Given the description of an element on the screen output the (x, y) to click on. 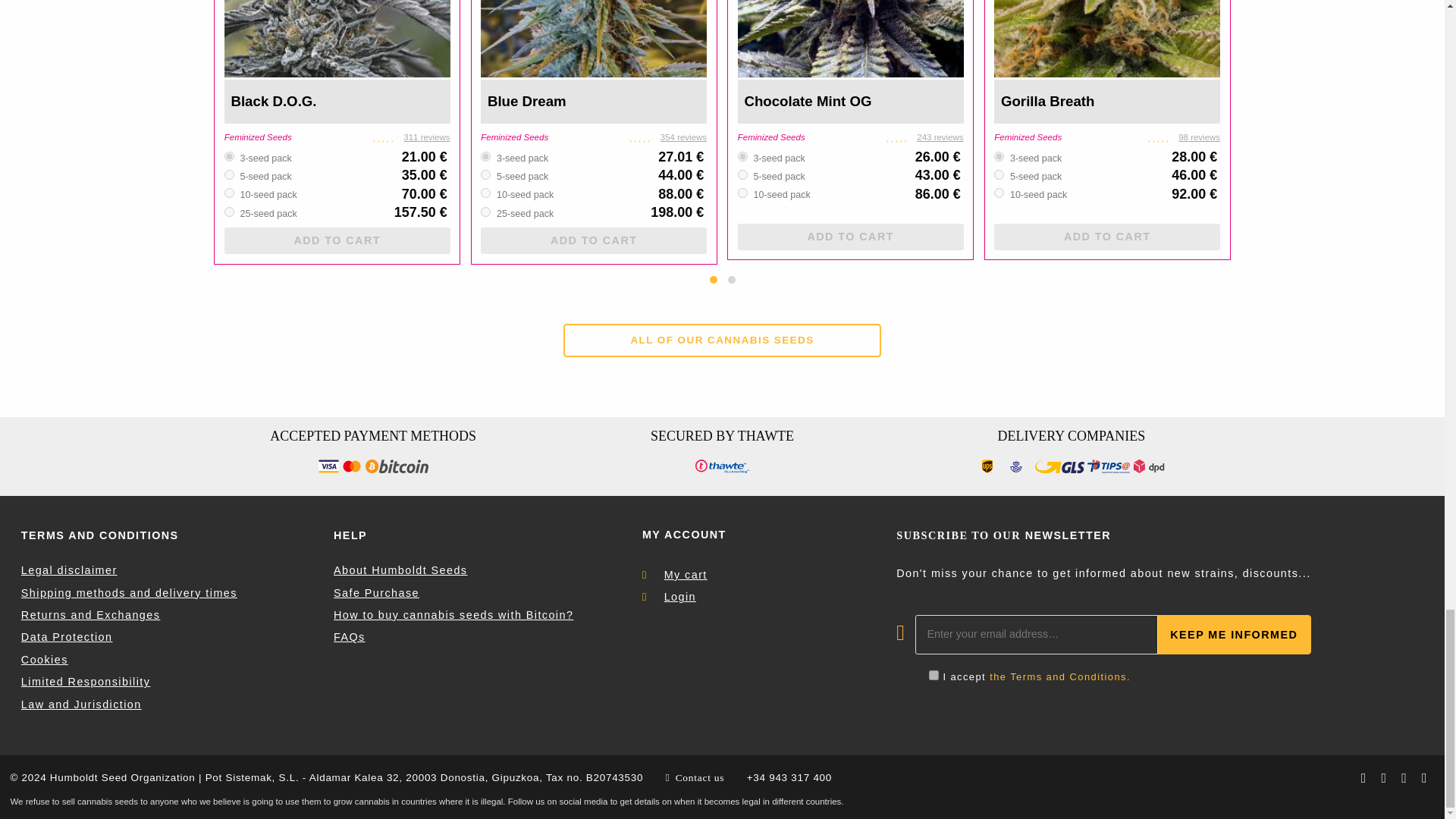
HS0130 (743, 156)
HS0131 (743, 174)
HS0147 (229, 156)
HS0160 (999, 156)
HS0148 (229, 212)
on (933, 675)
HS0161 (999, 174)
HS0145 (229, 193)
HS0016 (485, 156)
HS0146 (229, 174)
HS0149 (485, 212)
HS0162 (999, 193)
HS0018 (485, 193)
HS0017 (485, 174)
HS0132 (743, 193)
